Given the description of an element on the screen output the (x, y) to click on. 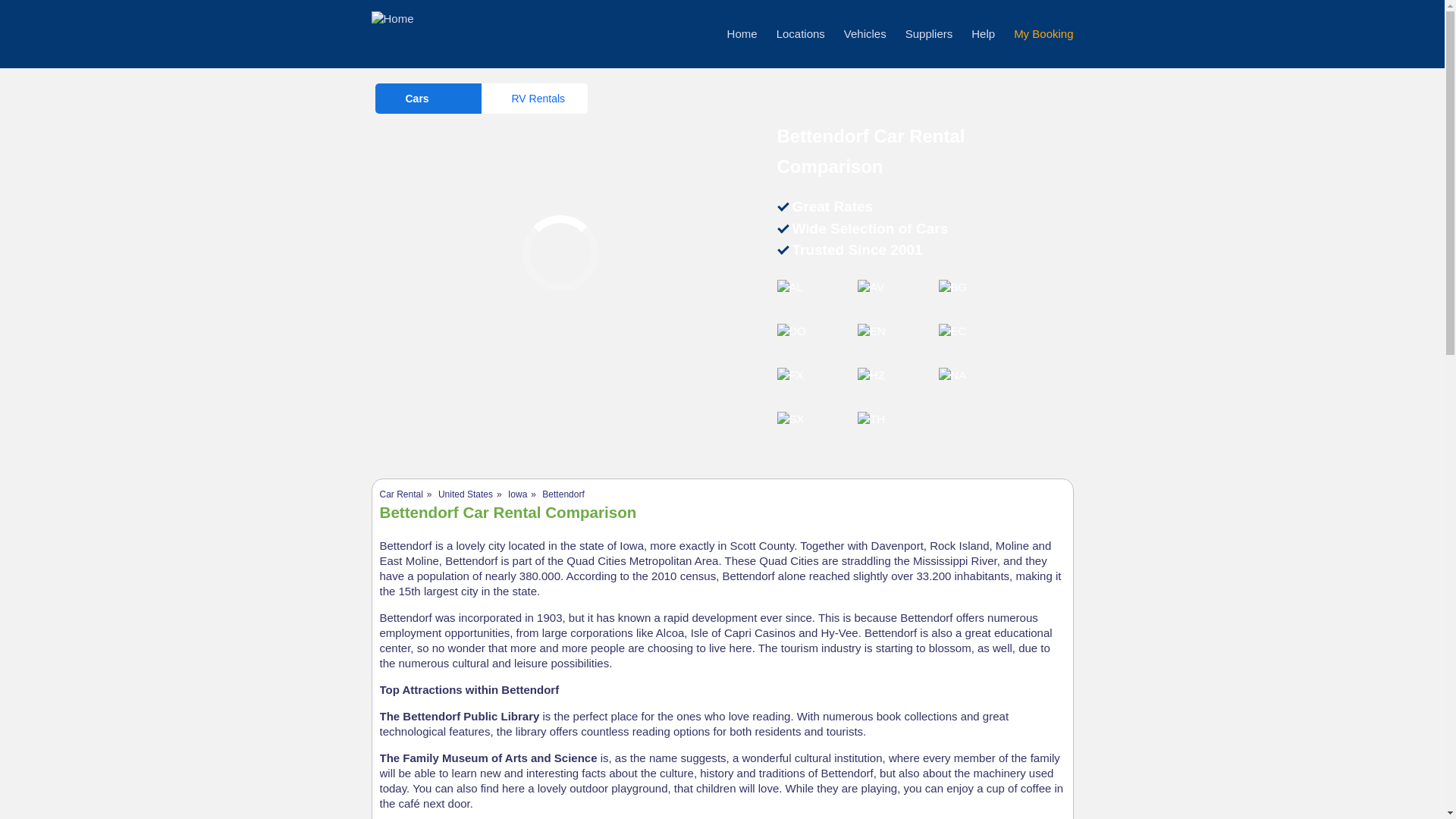
Home (741, 33)
Locations (800, 33)
Suppliers (929, 33)
My Booking (1043, 33)
Vehicles (865, 33)
Help (982, 33)
